Given the description of an element on the screen output the (x, y) to click on. 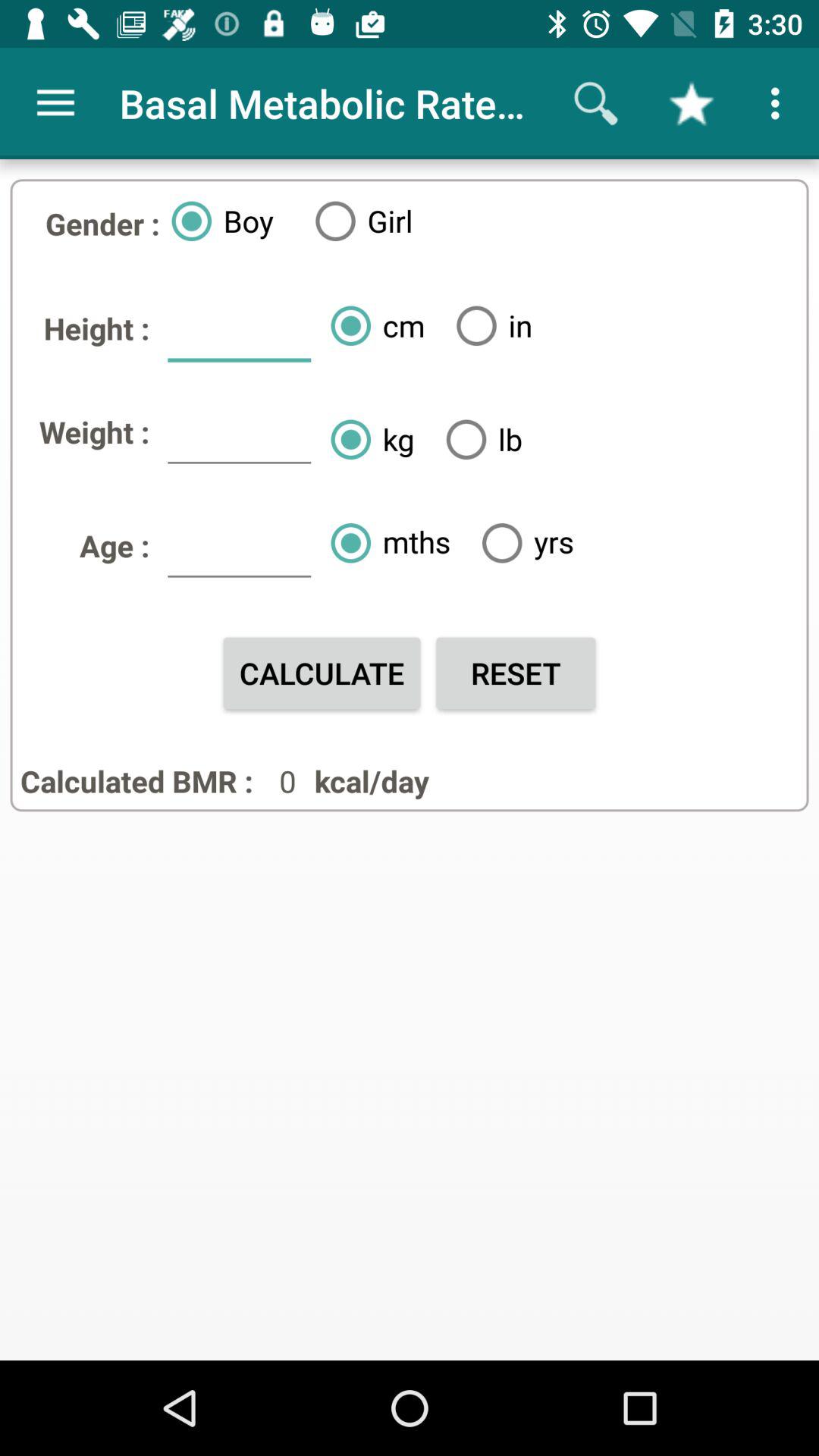
choose kg (366, 439)
